Given the description of an element on the screen output the (x, y) to click on. 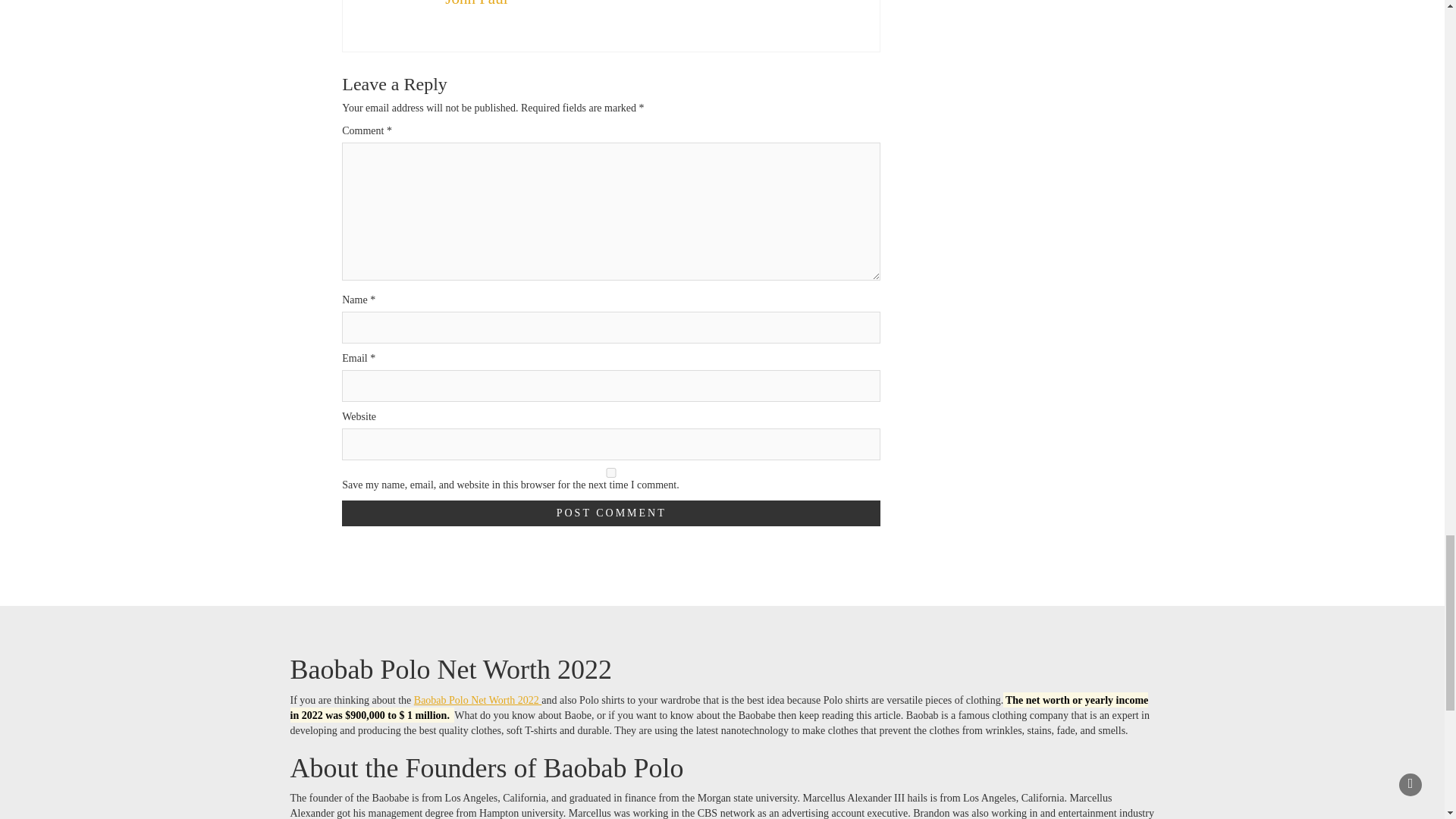
Post Comment (611, 513)
yes (611, 472)
John Paul (475, 3)
Post Comment (611, 513)
